Given the description of an element on the screen output the (x, y) to click on. 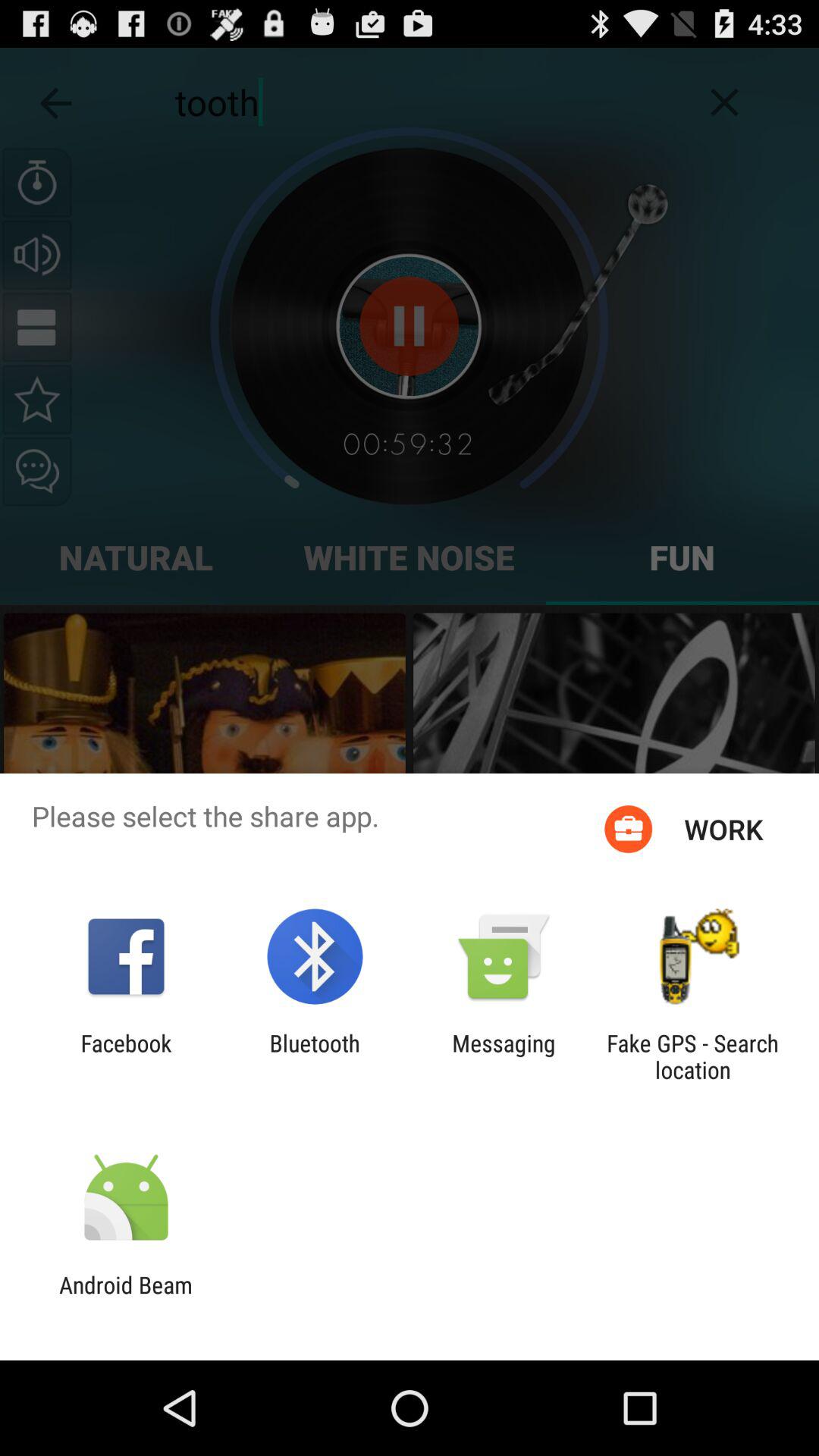
select messaging app (503, 1056)
